Given the description of an element on the screen output the (x, y) to click on. 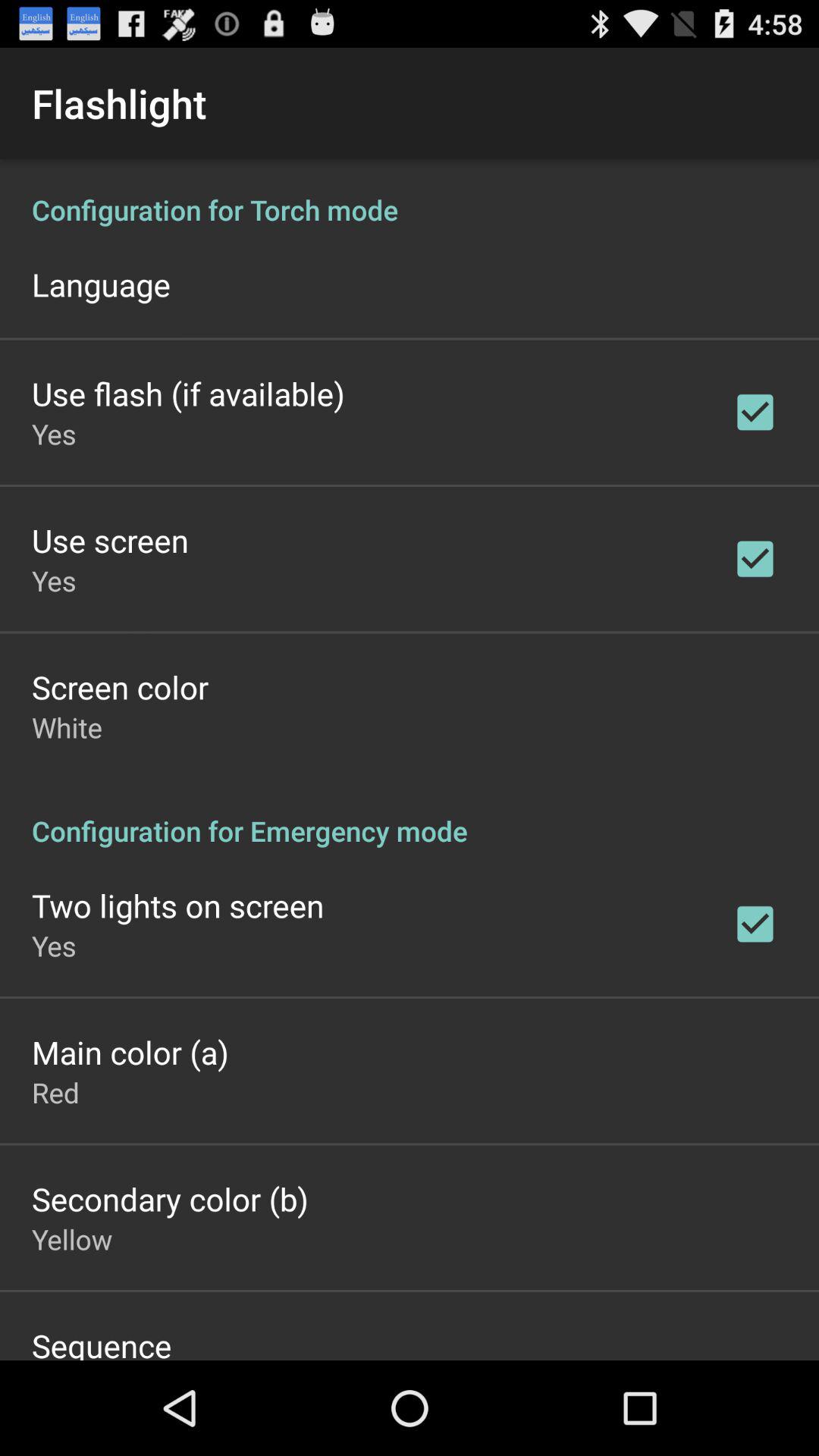
press icon above configuration for emergency (66, 727)
